Given the description of an element on the screen output the (x, y) to click on. 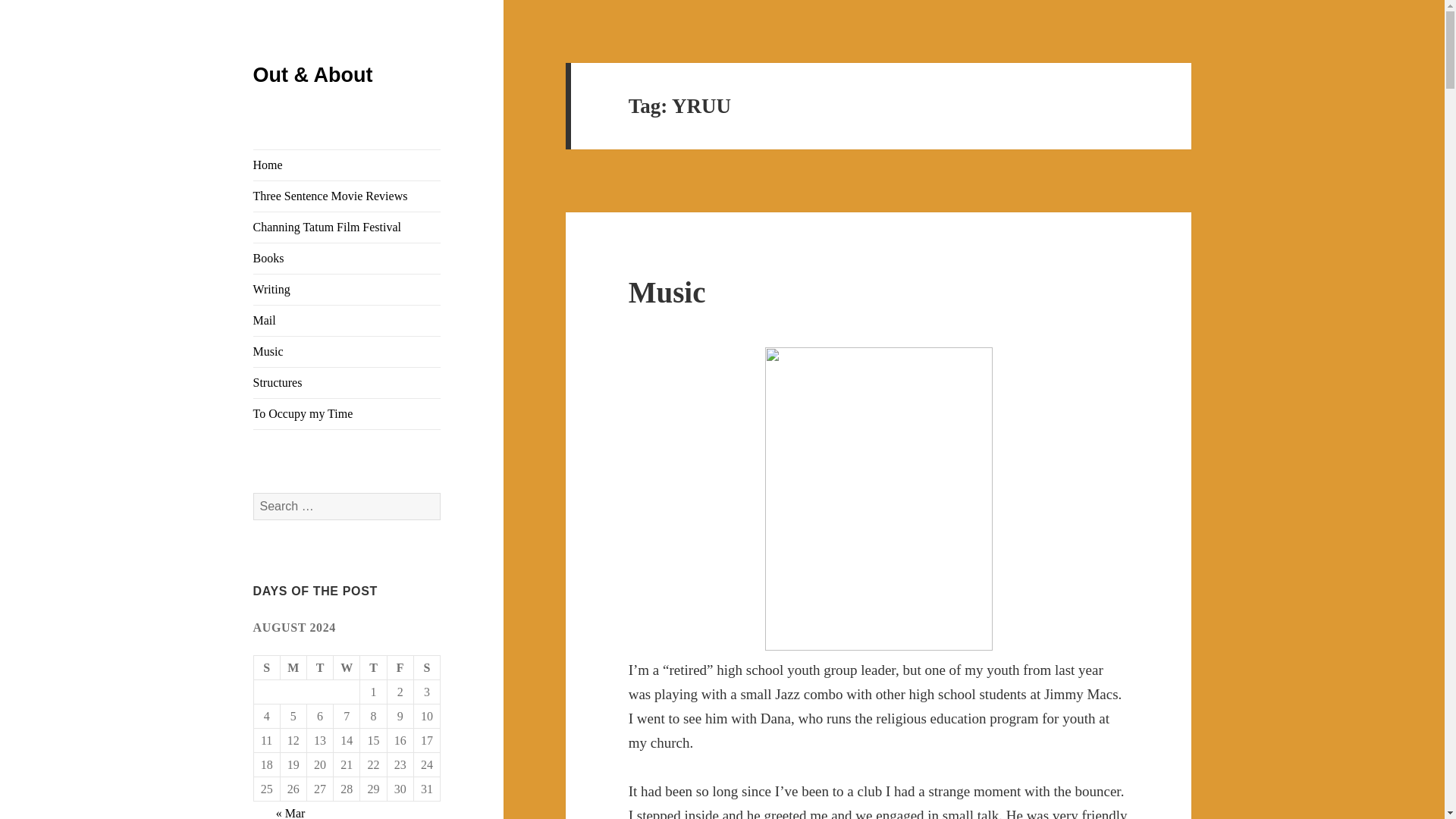
Writing (347, 289)
When you only have time for the short review. (347, 195)
Music (347, 351)
Saturday (427, 668)
Buildings, houses and other things I notice on walks. (347, 382)
To Occupy my Time (347, 413)
I have a lot of interests.  Everything else is here. (347, 413)
Books (347, 258)
Essays and the like. (347, 289)
